Given the description of an element on the screen output the (x, y) to click on. 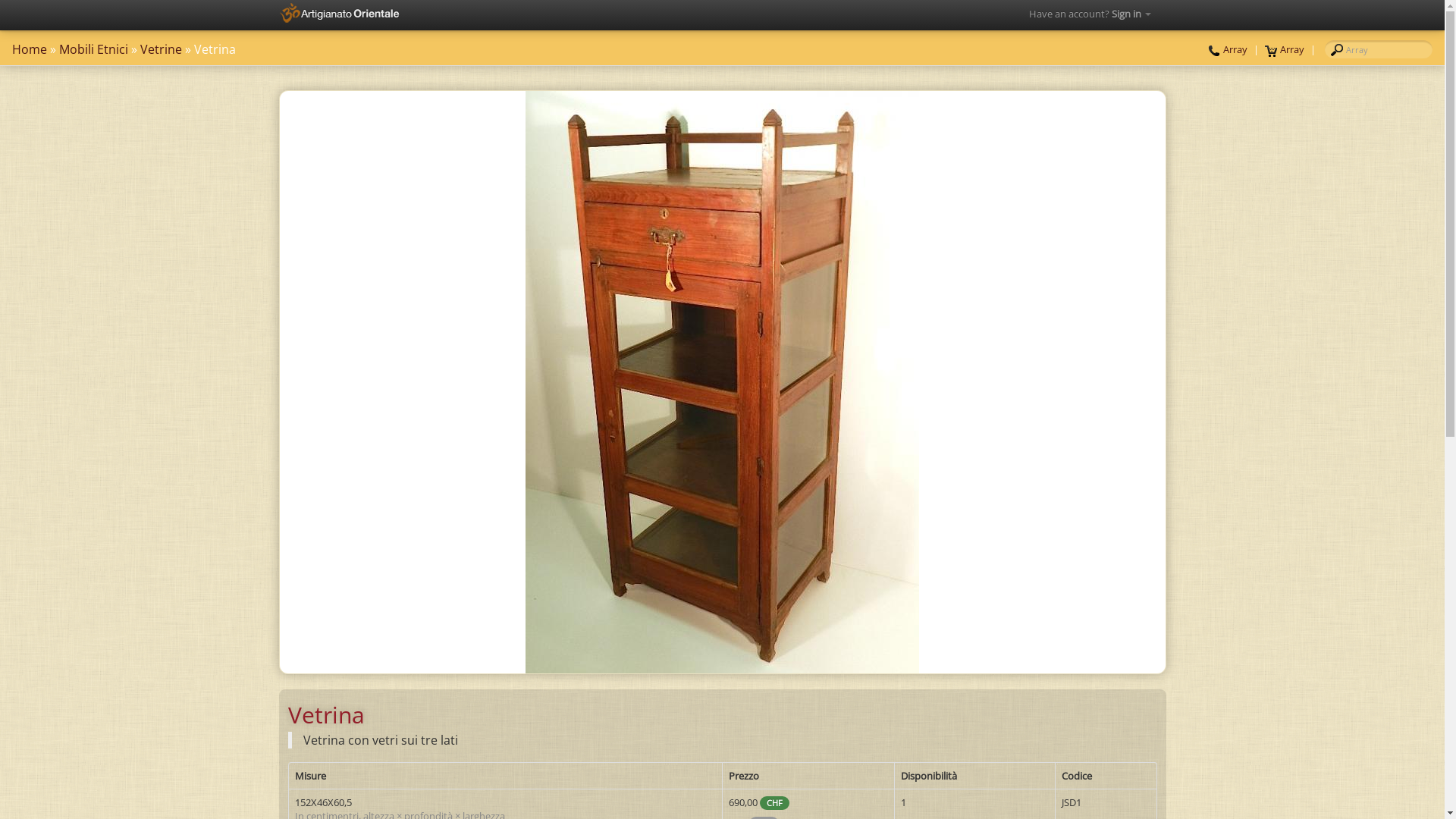
Array Element type: text (1284, 49)
Array Element type: text (1227, 49)
Home Element type: text (29, 48)
Mobili Etnici Element type: text (93, 48)
Have an account? Sign in Element type: text (1088, 14)
Vetrine Element type: text (161, 48)
